Given the description of an element on the screen output the (x, y) to click on. 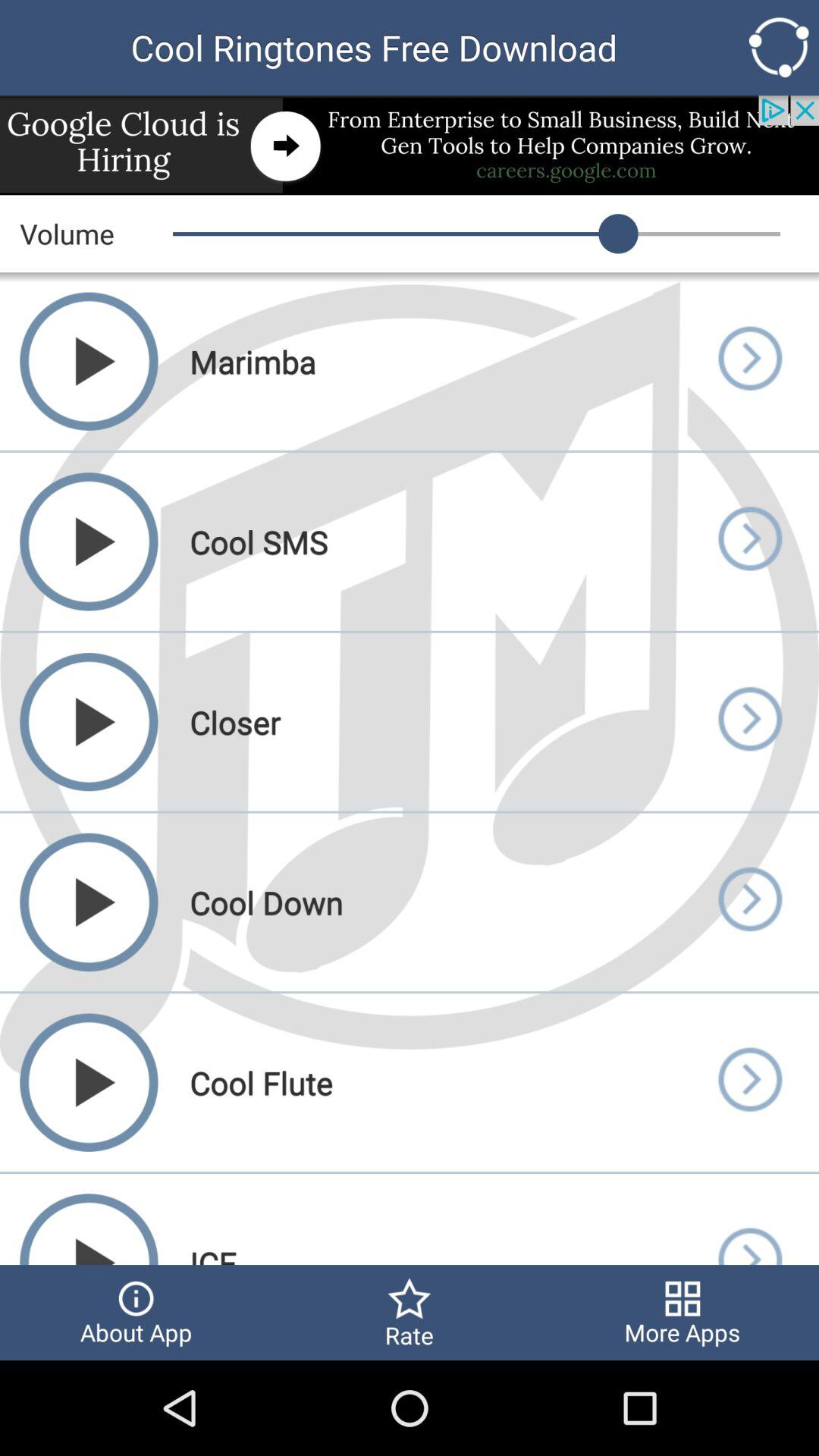
options button (778, 47)
